Given the description of an element on the screen output the (x, y) to click on. 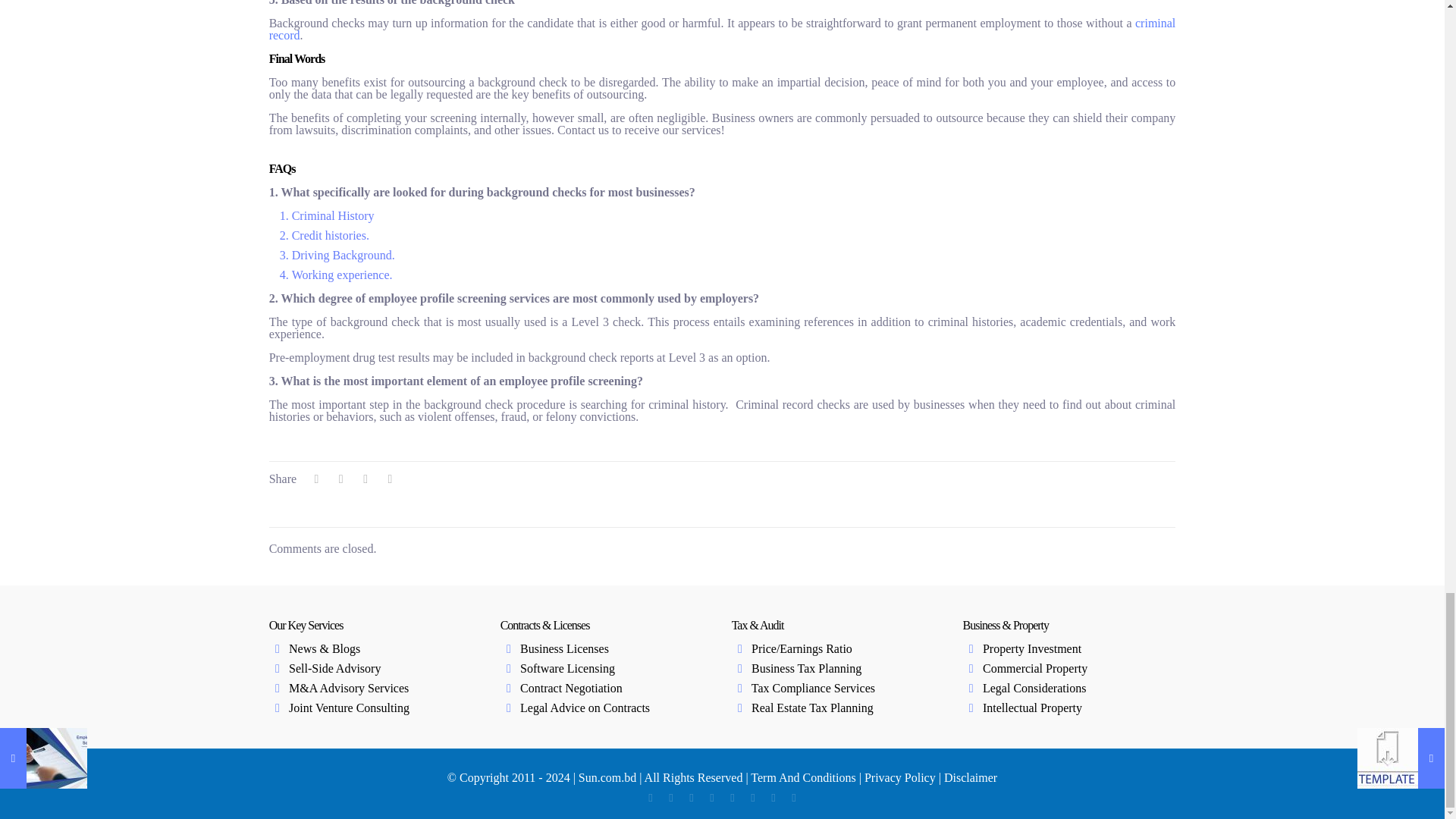
Twitter (670, 797)
Pinterest (731, 797)
YouTube (690, 797)
Facebook (650, 797)
LinkedIn (711, 797)
